Given the description of an element on the screen output the (x, y) to click on. 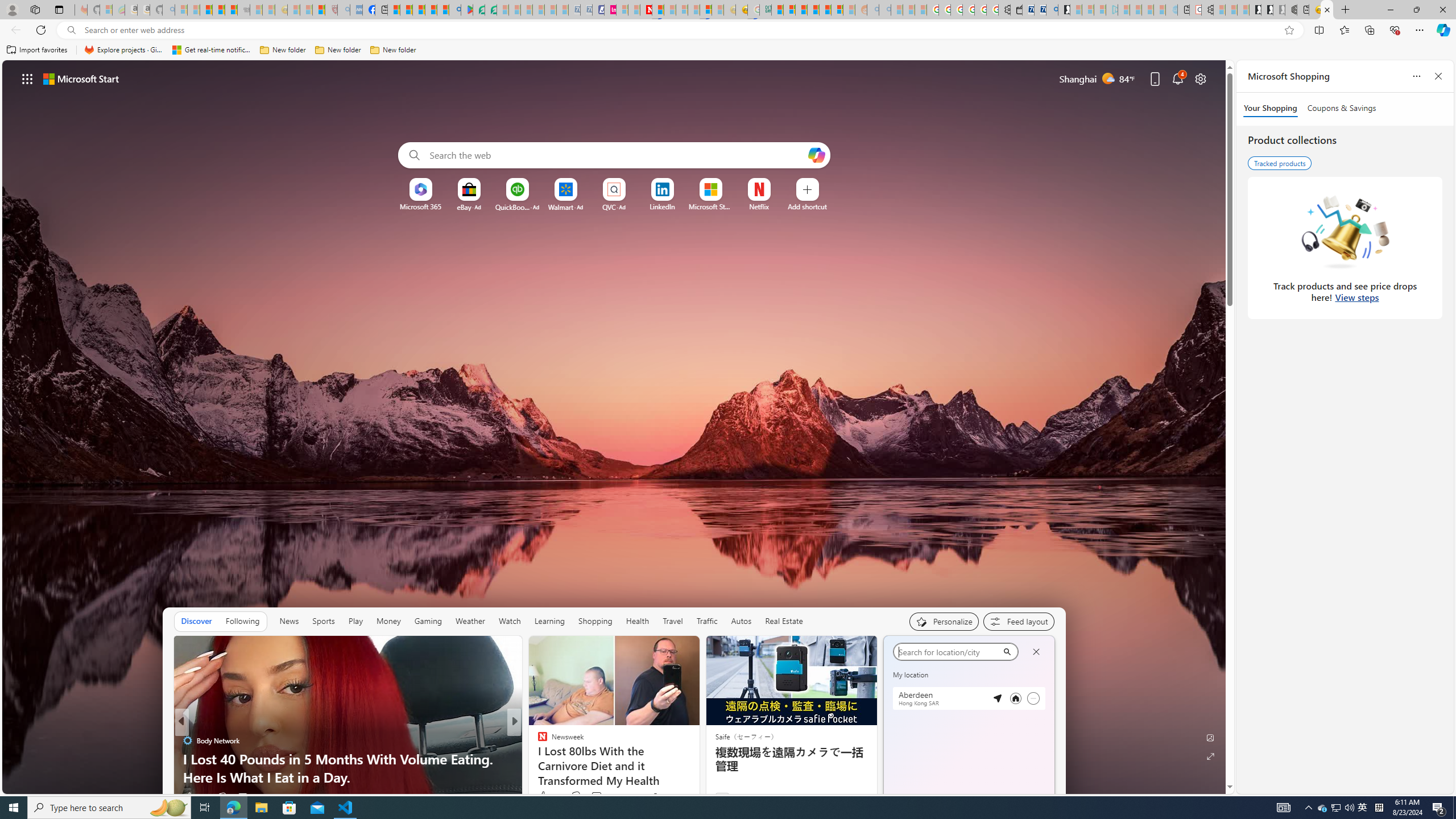
186 Like (194, 796)
The Passport Kitchen (537, 758)
AutomationID: backgroundImagePicture (613, 426)
View comments 11 Comment (592, 797)
Enter your search term (617, 155)
Favorites bar (728, 49)
Microsoft Word - consumer-privacy address update 2.2021 (491, 9)
